Given the description of an element on the screen output the (x, y) to click on. 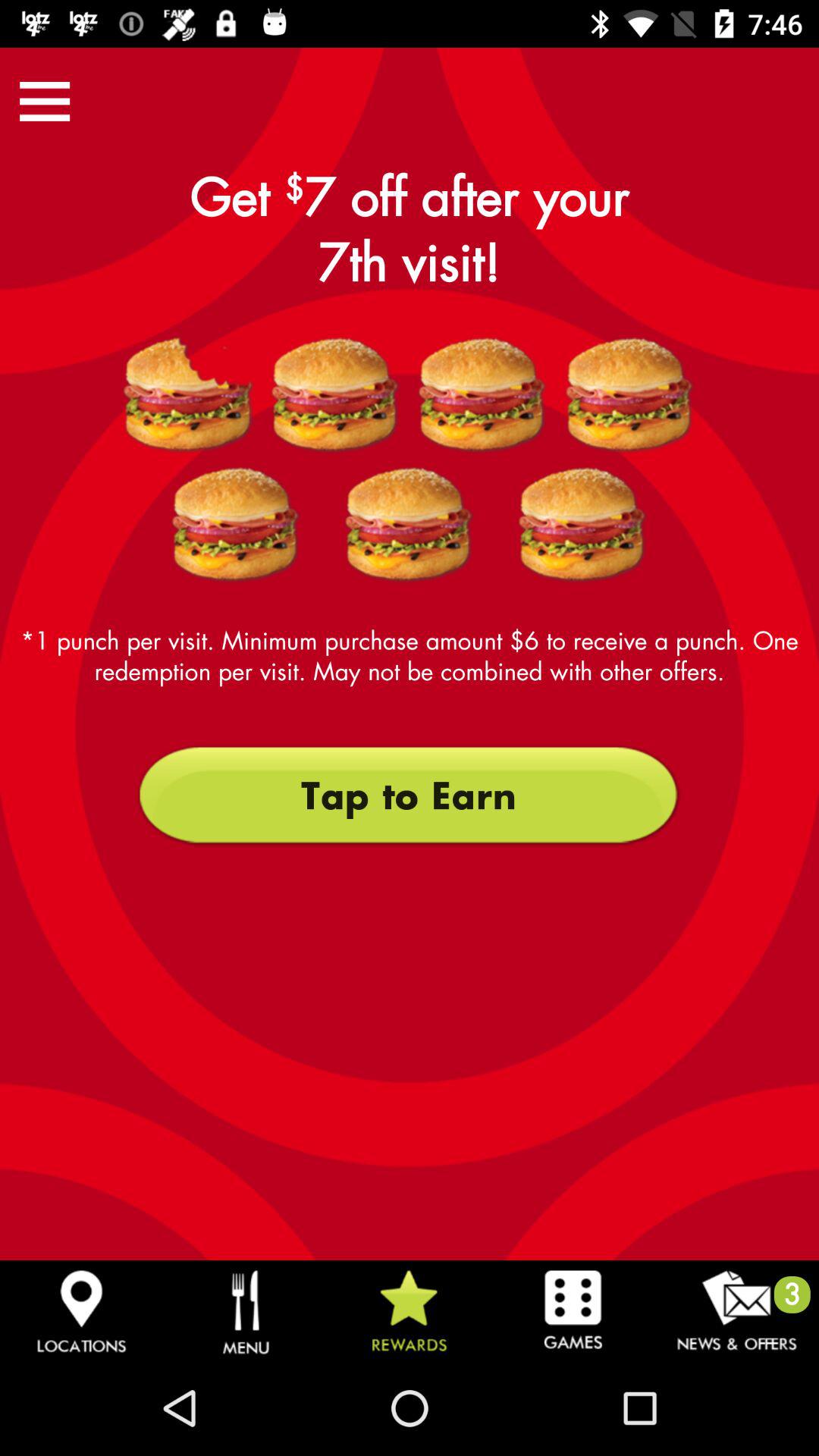
select menu (44, 101)
